Given the description of an element on the screen output the (x, y) to click on. 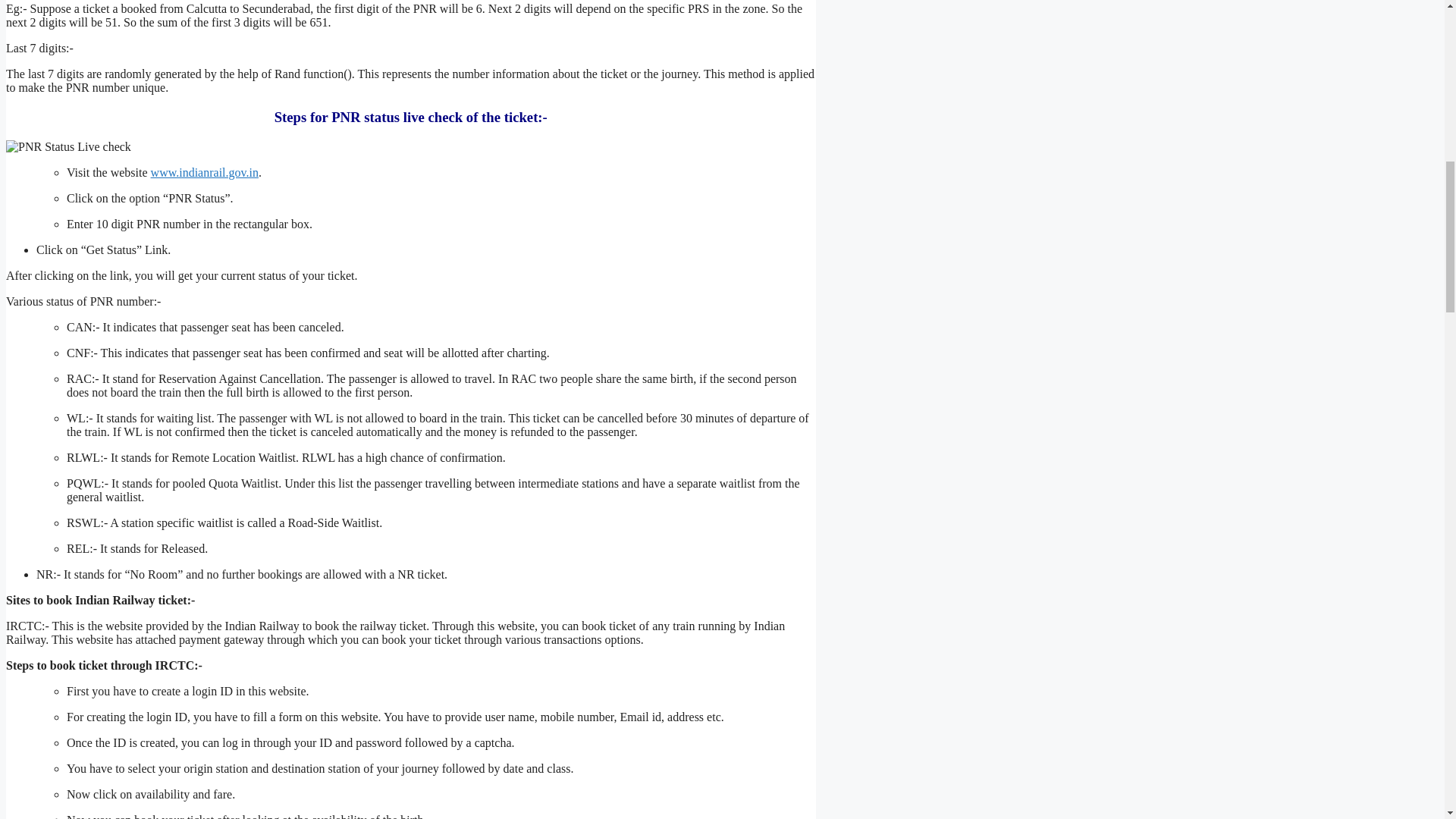
www.indianrail.gov.in (205, 172)
